Given the description of an element on the screen output the (x, y) to click on. 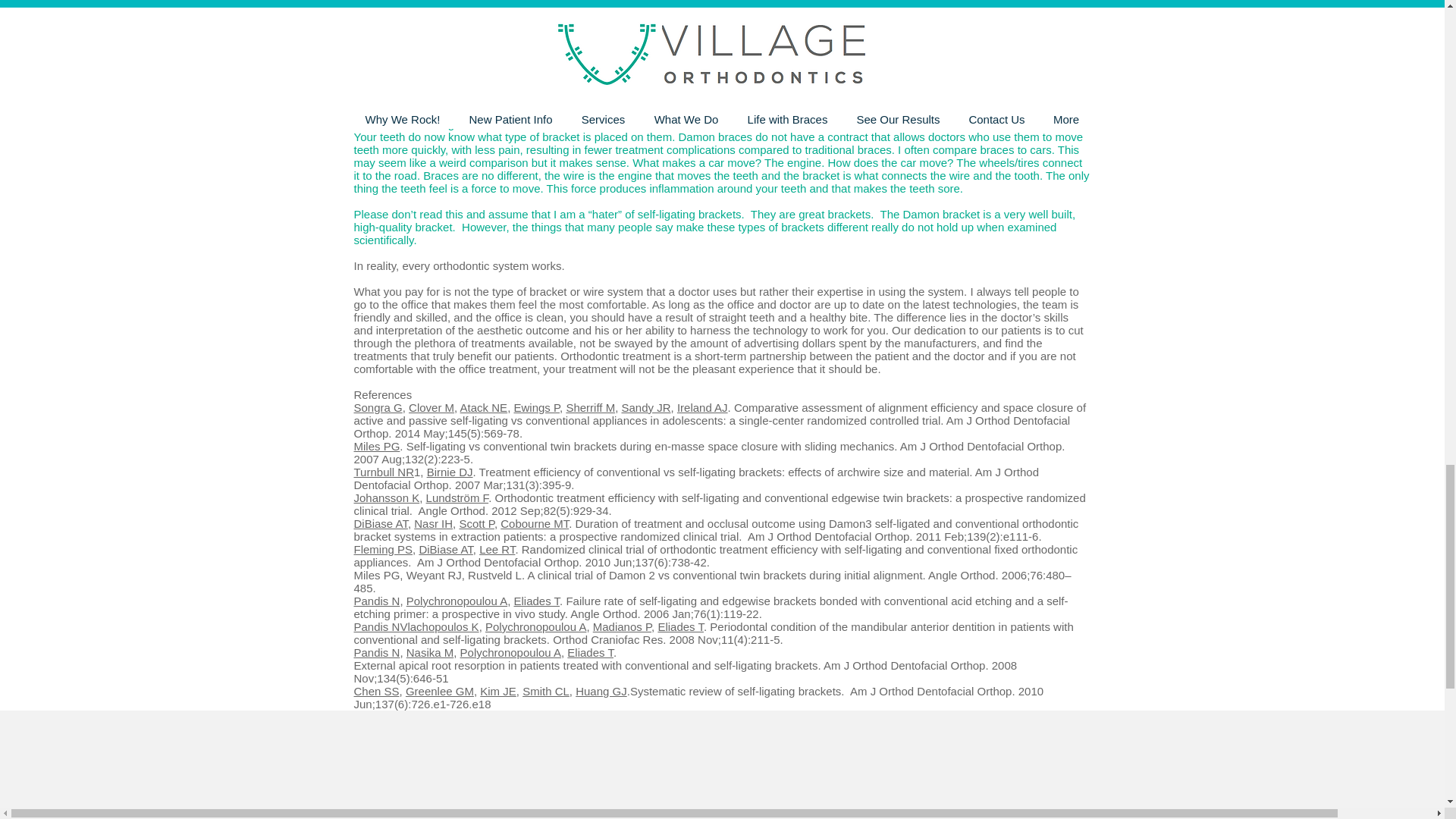
Songra G (377, 407)
Clover M (431, 407)
Ewings P (536, 407)
Atack NE (484, 407)
